Given the description of an element on the screen output the (x, y) to click on. 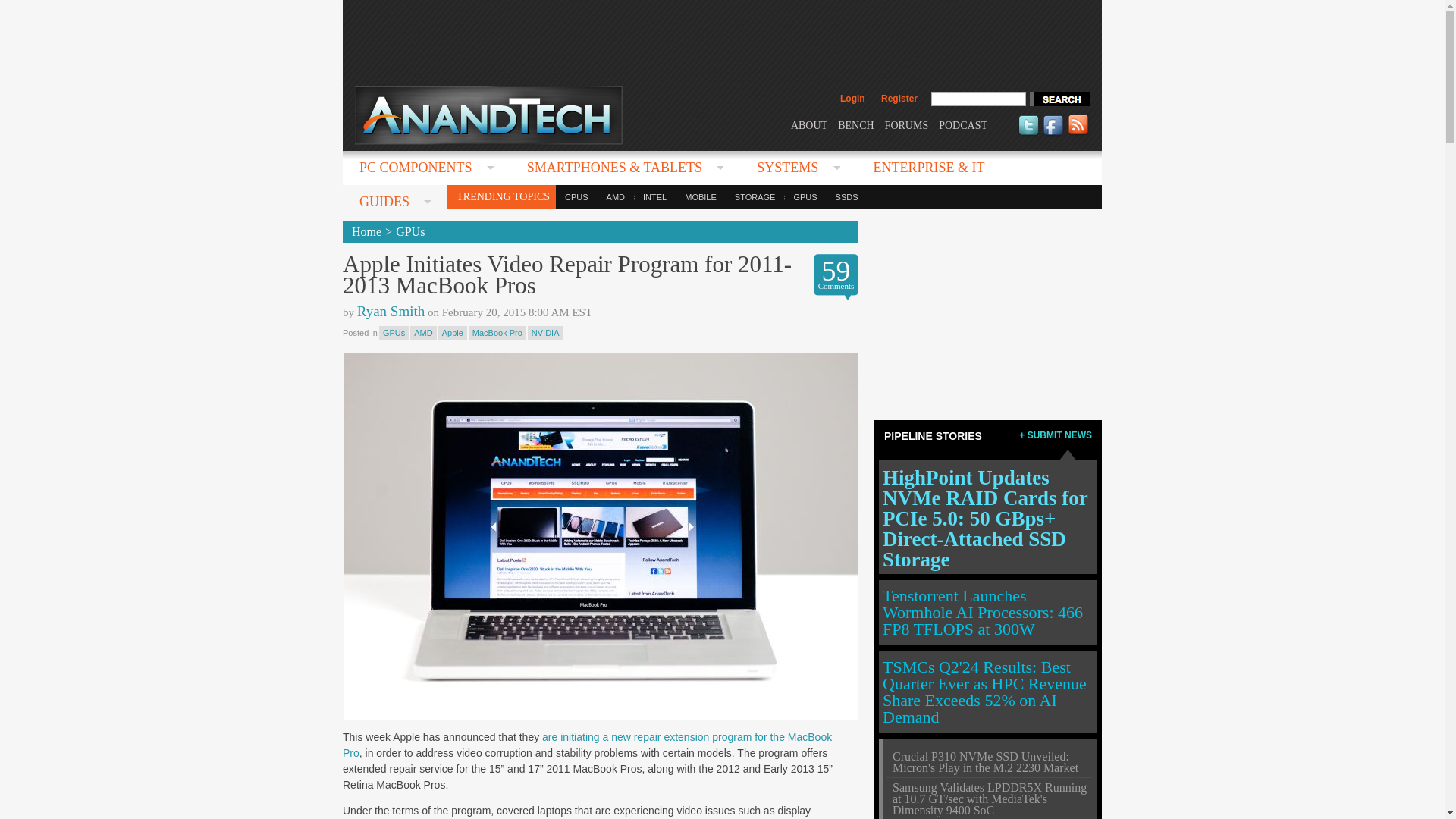
search (1059, 98)
search (1059, 98)
search (1059, 98)
Login (852, 98)
PODCAST (963, 125)
BENCH (855, 125)
ABOUT (808, 125)
Register (898, 98)
FORUMS (906, 125)
